Given the description of an element on the screen output the (x, y) to click on. 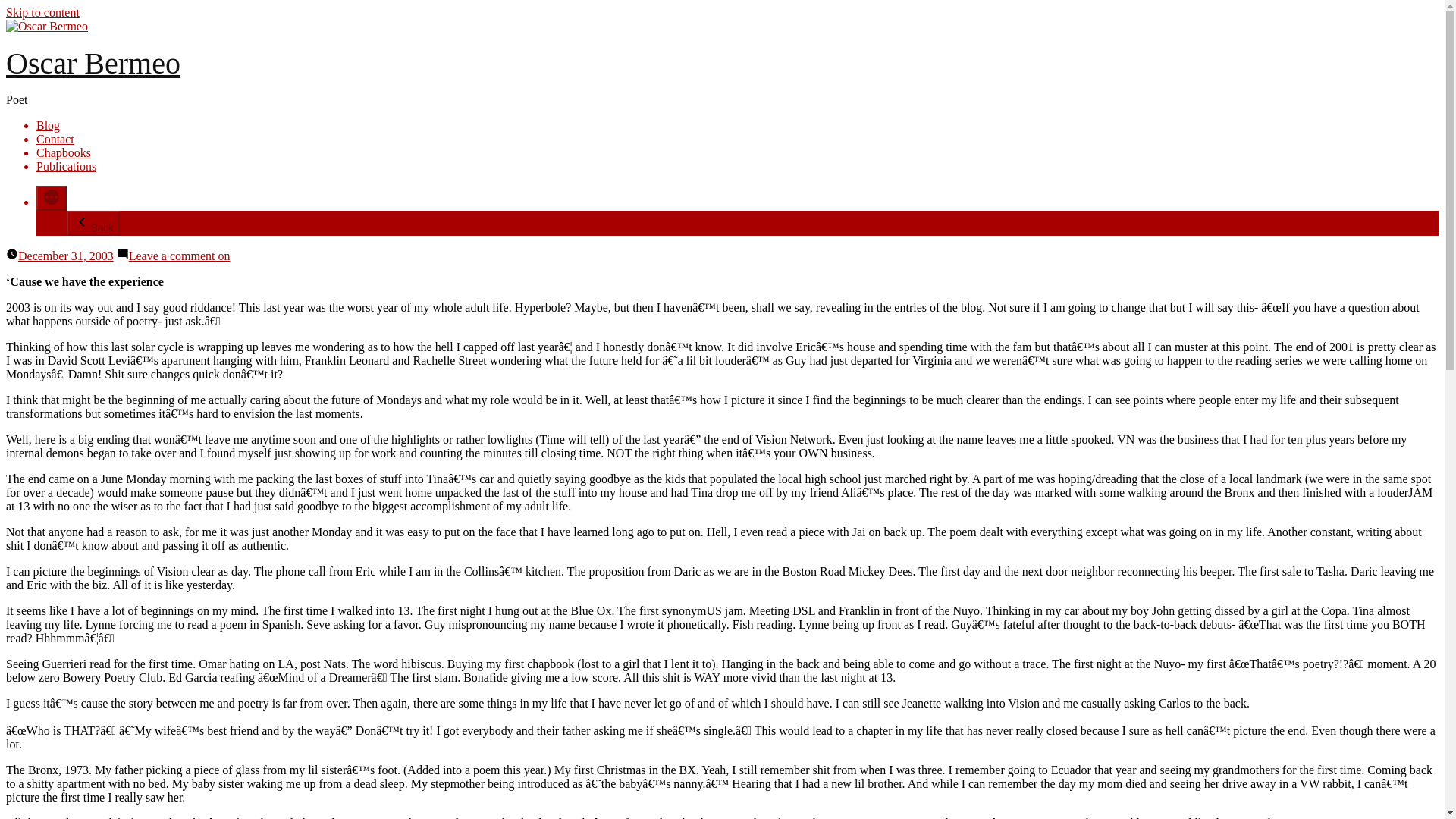
Back (92, 222)
Skip to content (42, 11)
Contact (55, 138)
Publications (66, 165)
Blog (47, 124)
Oscar Bermeo (92, 62)
Chapbooks (63, 152)
December 31, 2003 (65, 255)
Leave a comment on (179, 255)
